Given the description of an element on the screen output the (x, y) to click on. 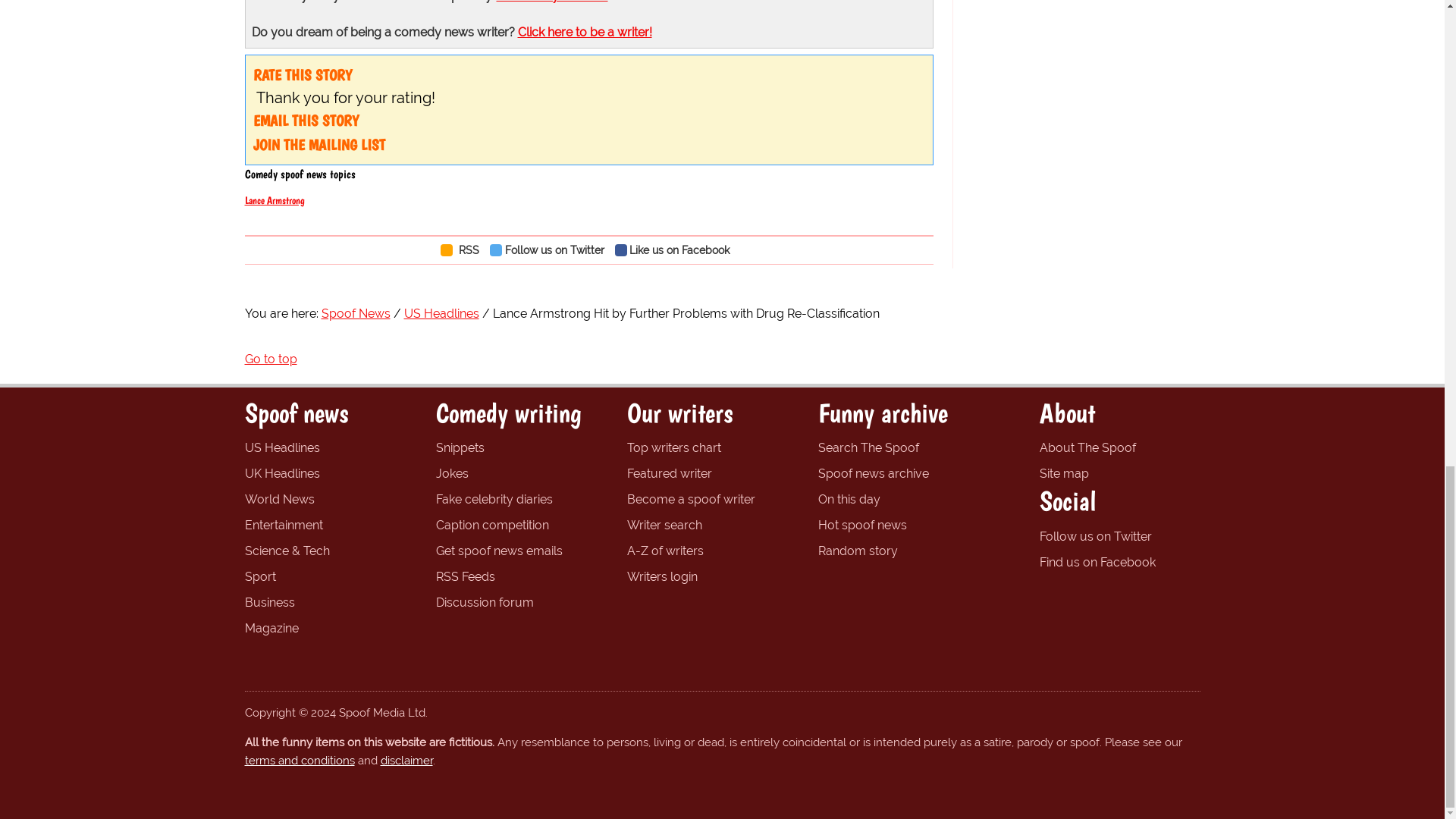
Lance Armstrong (274, 200)
Like us on Facebook (676, 249)
Spoof News US Headlines (281, 447)
Follow us on Twitter (550, 249)
JOIN THE MAILING LIST (319, 144)
It is entirely fictitious (551, 1)
View RSS Feed (463, 249)
EMAIL THIS STORY (305, 120)
Go to top (270, 359)
Spoof News (355, 313)
Click here to be a writer! (583, 32)
US Headlines (441, 313)
RSS (463, 249)
